Given the description of an element on the screen output the (x, y) to click on. 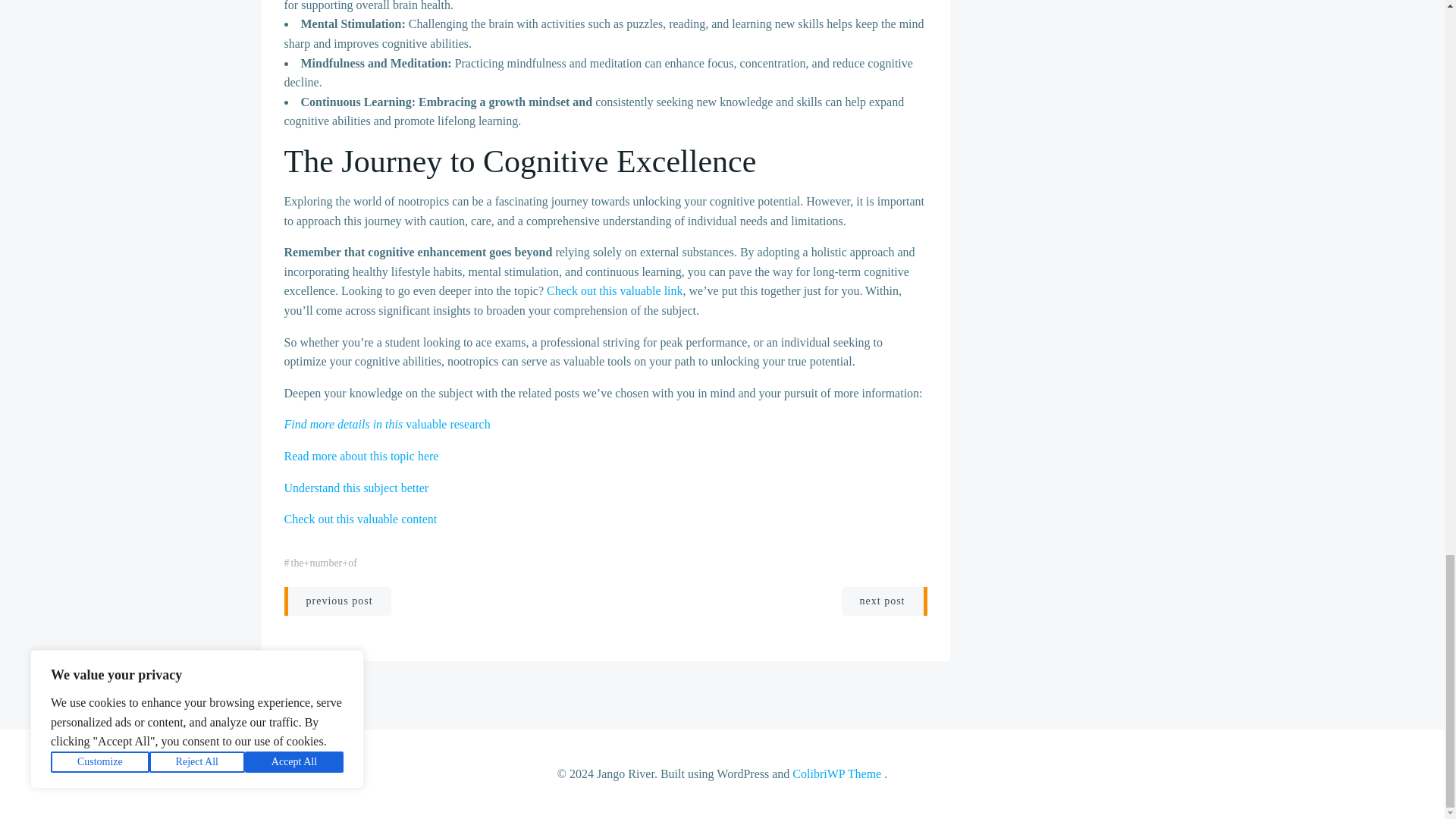
Read more about this topic here (360, 455)
Check out this valuable link (614, 290)
Find more details in this valuable research (386, 423)
previous post (336, 601)
Understand this subject better (355, 486)
Check out this valuable content (359, 518)
next post (884, 601)
